Given the description of an element on the screen output the (x, y) to click on. 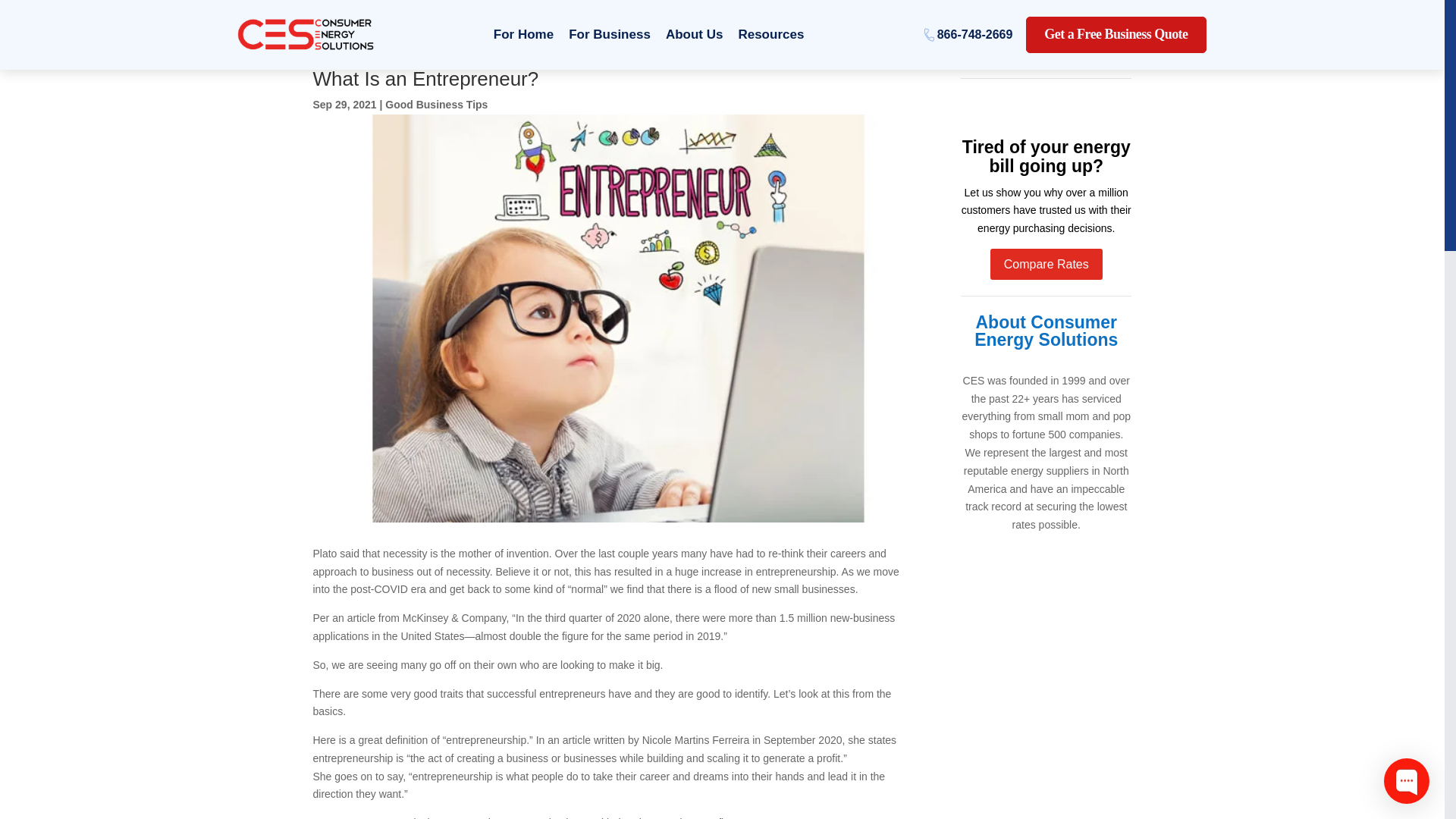
Resources (770, 34)
About Us (694, 34)
Good Business Tips (436, 104)
For Home (523, 34)
866-748-2669 (968, 34)
Compare Rates (1046, 264)
For Business (609, 34)
Get a Free Business Quote (1115, 34)
